Given the description of an element on the screen output the (x, y) to click on. 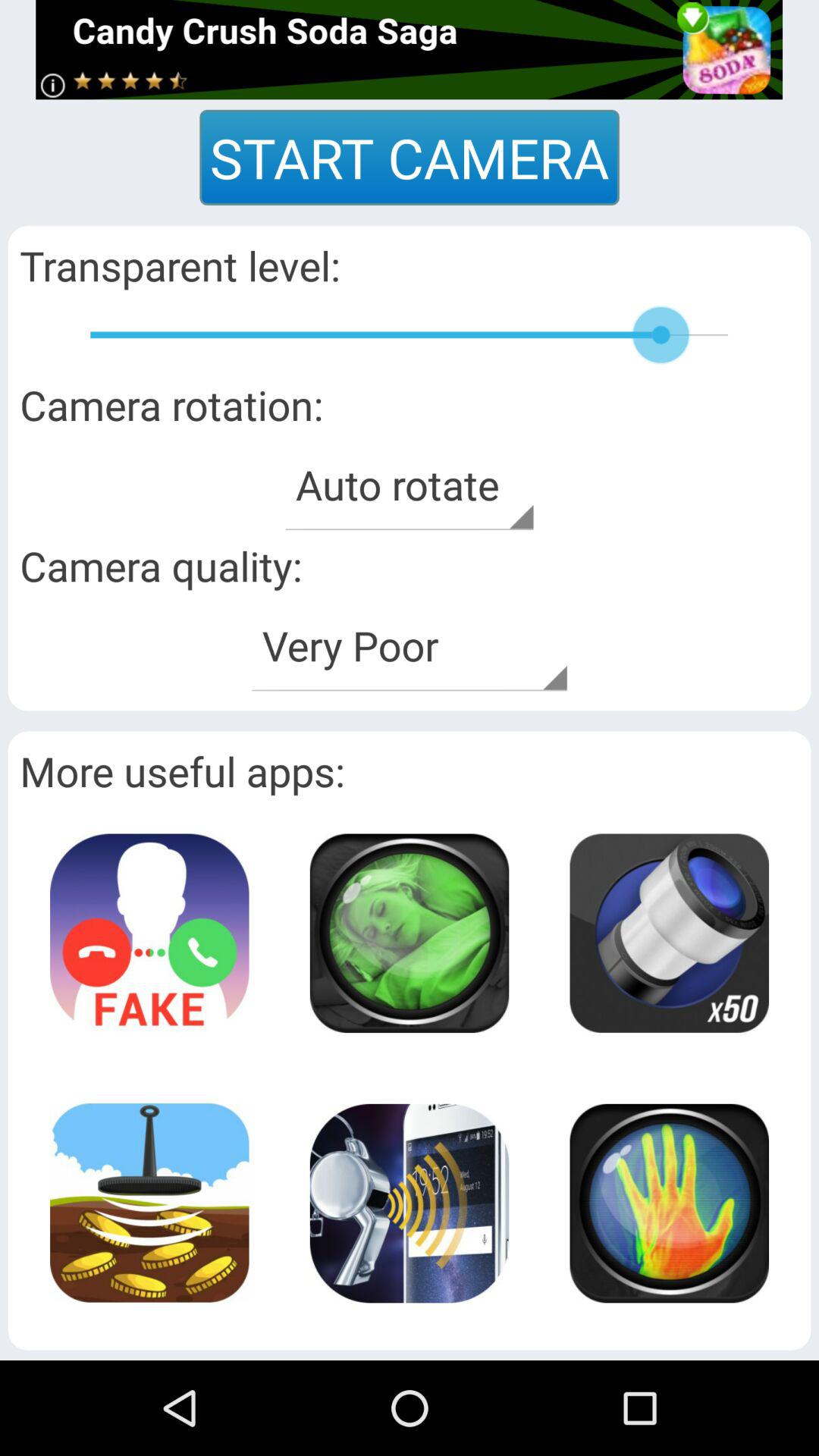
advertisement for another app (149, 932)
